Given the description of an element on the screen output the (x, y) to click on. 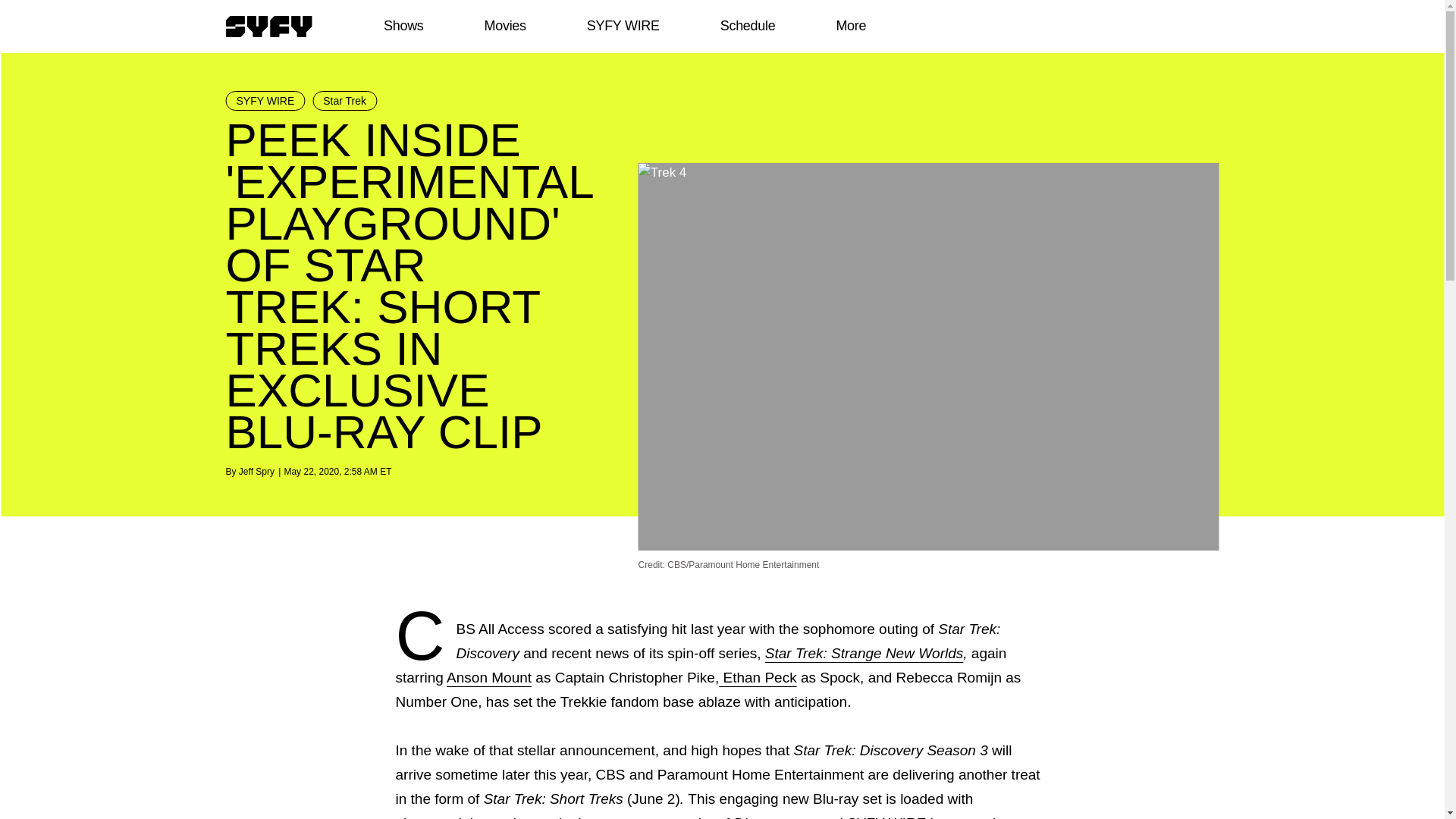
Ethan Peck (757, 677)
Schedule (746, 26)
Star Trek (345, 100)
Movies (504, 26)
Shows (403, 26)
Jeff Spry (256, 471)
More (850, 26)
Star Trek: Strange New Worlds (864, 652)
SYFY WIRE (265, 100)
